Given the description of an element on the screen output the (x, y) to click on. 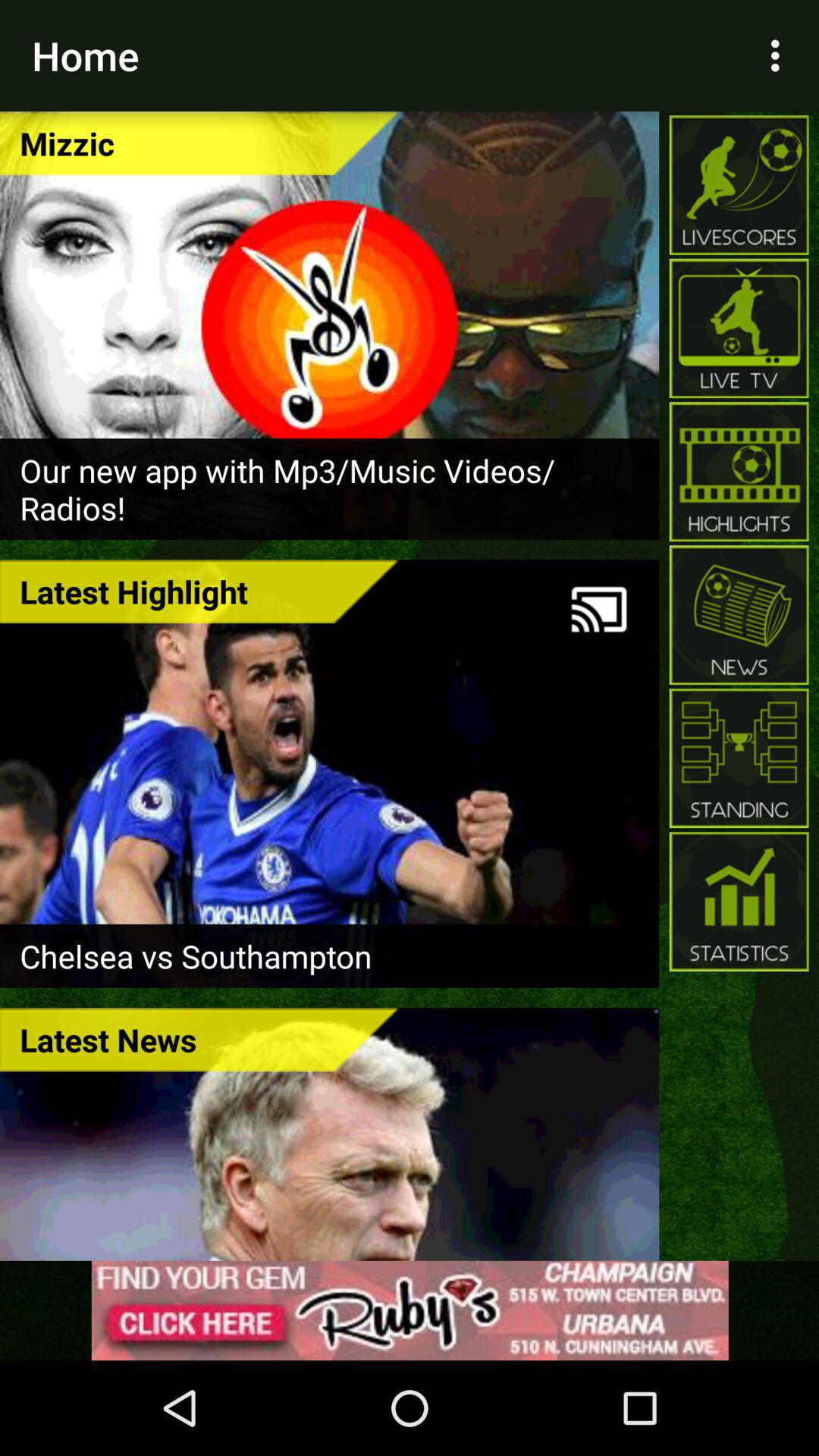
click advertisement (409, 1310)
